Given the description of an element on the screen output the (x, y) to click on. 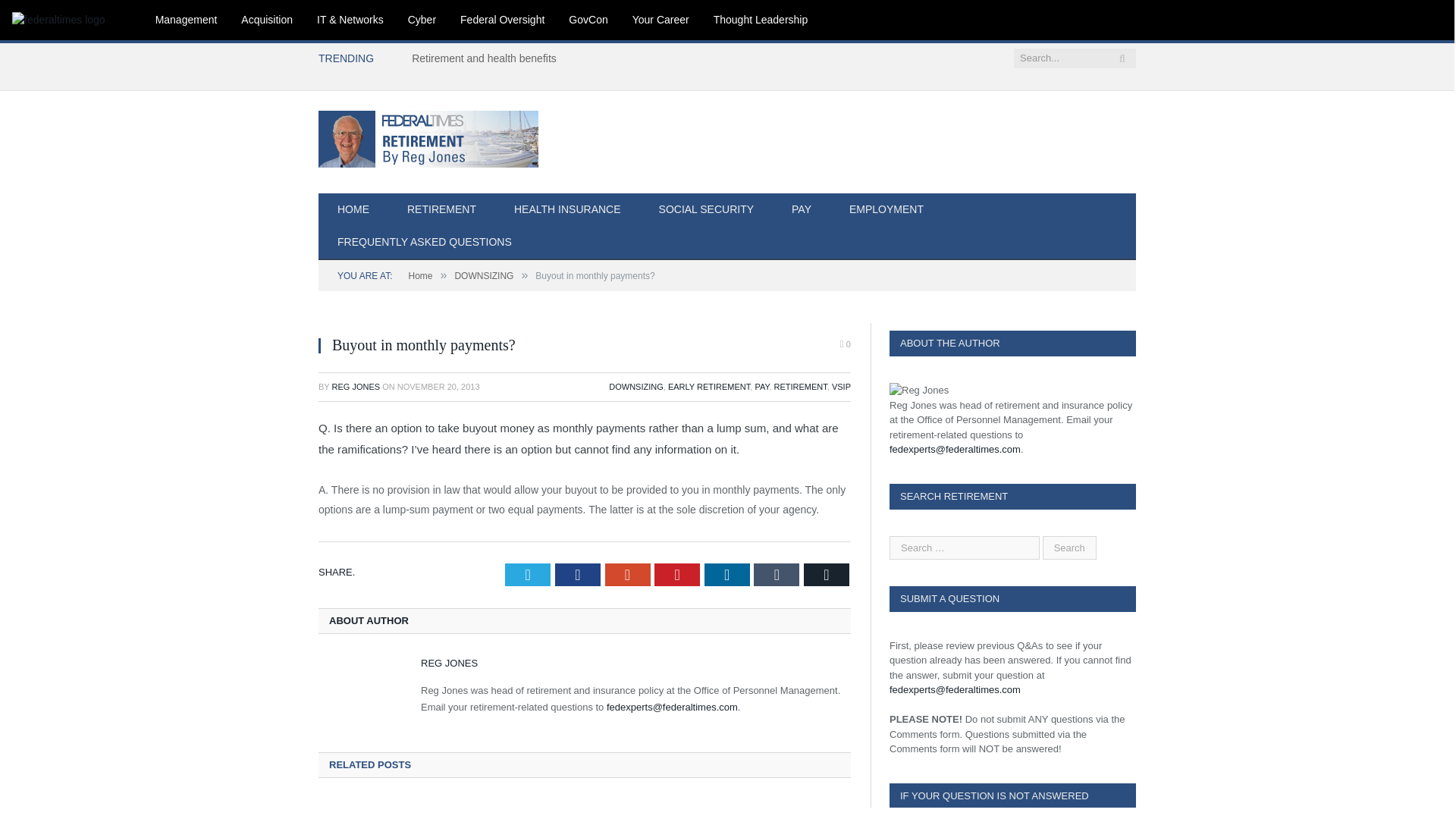
DOWNSIZING (635, 386)
Retirement and health benefits (488, 58)
Your Career (660, 19)
HOME (353, 210)
Retirement and health benefits (488, 58)
Thought Leadership (761, 19)
Ask The Experts: Retirement (428, 136)
PAY (761, 386)
Twitter (527, 574)
VSIP (840, 386)
